Given the description of an element on the screen output the (x, y) to click on. 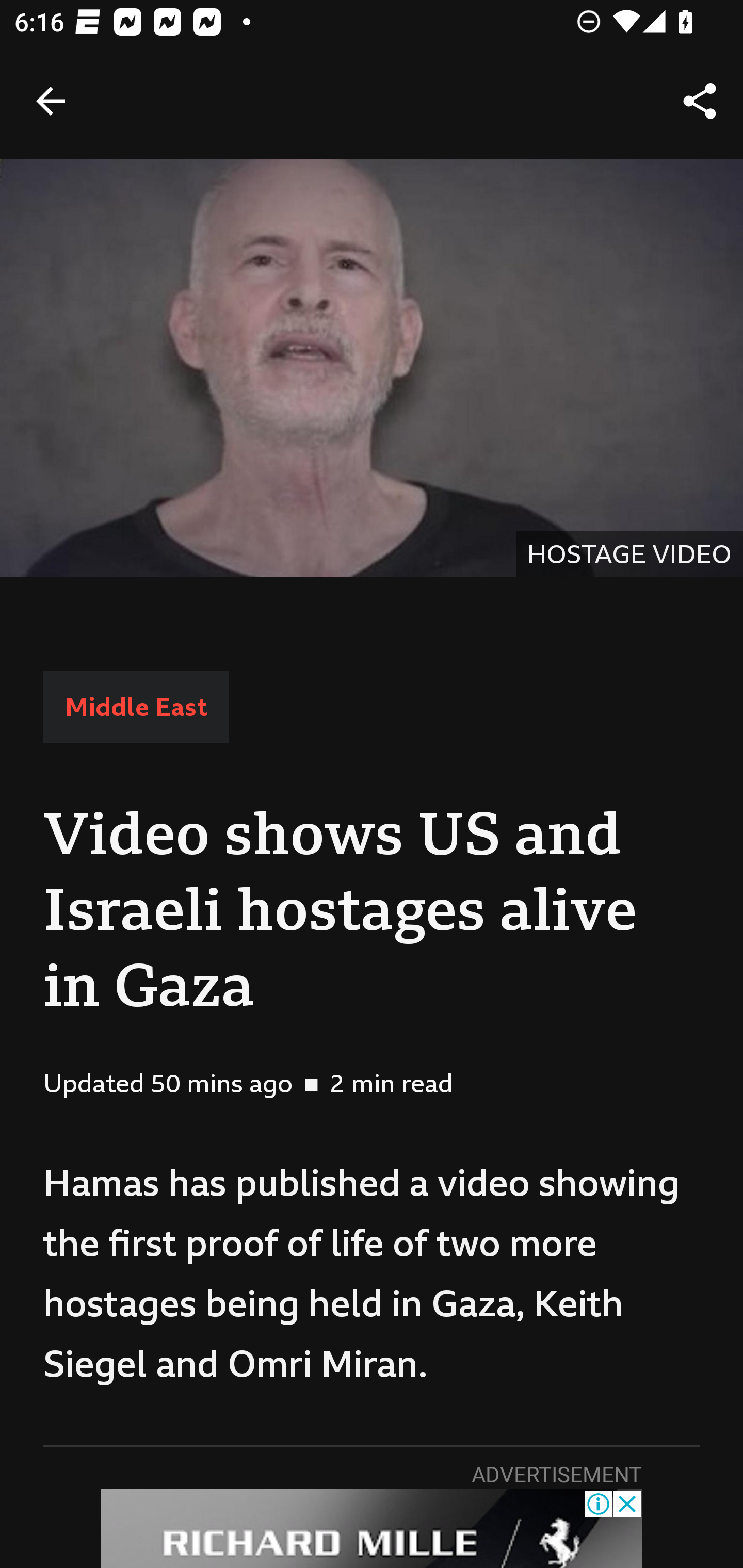
Back (50, 101)
Share (699, 101)
Keith Siegel is seen in new hostage video (371, 367)
Middle East (135, 706)
